Given the description of an element on the screen output the (x, y) to click on. 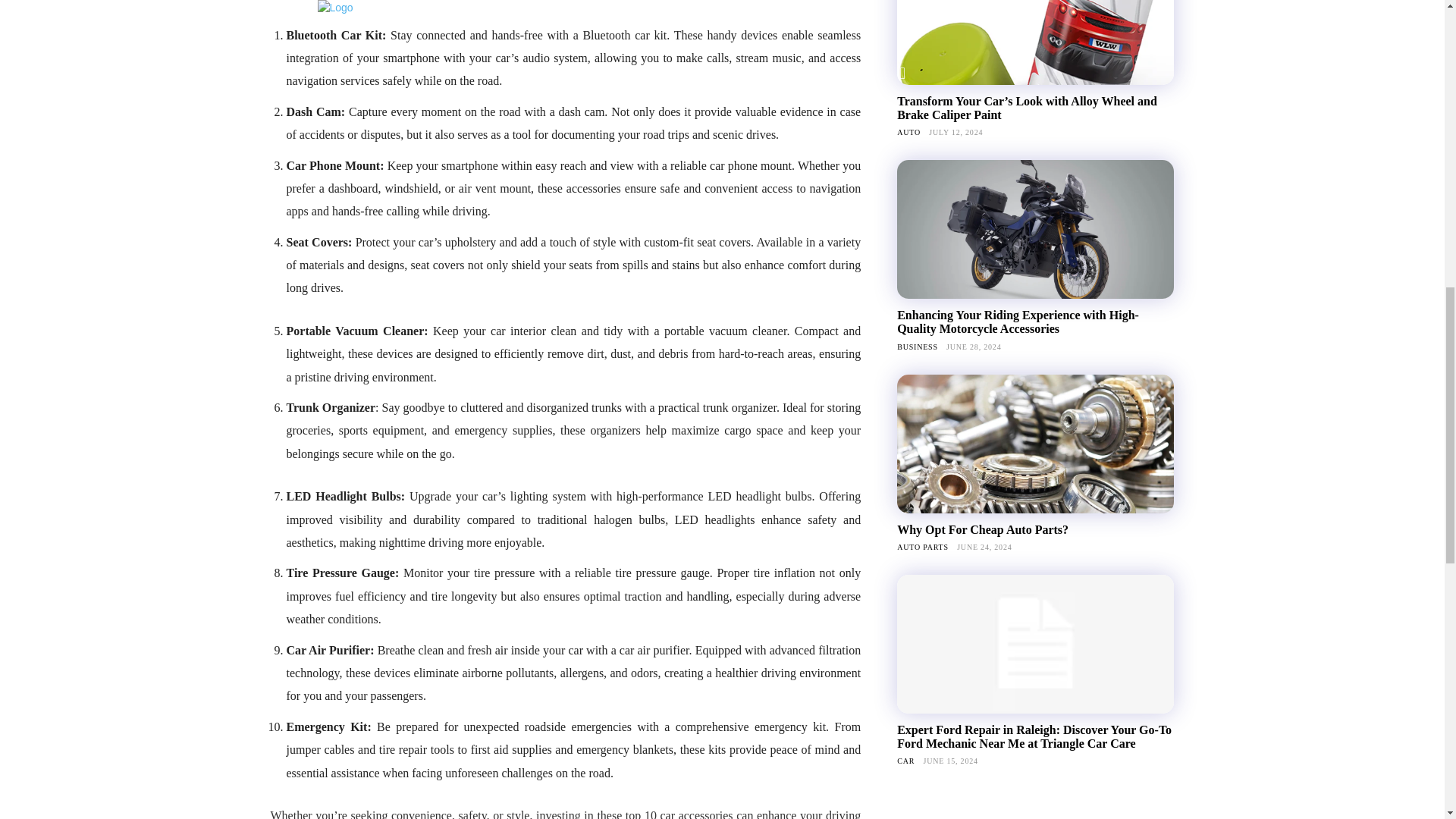
Why Opt For Cheap Auto Parts? (982, 529)
AUTO PARTS (922, 546)
Why Opt For Cheap Auto Parts? (982, 529)
CAR (905, 760)
BUSINESS (916, 346)
Why Opt For Cheap Auto Parts? (1034, 443)
AUTO (908, 131)
